Given the description of an element on the screen output the (x, y) to click on. 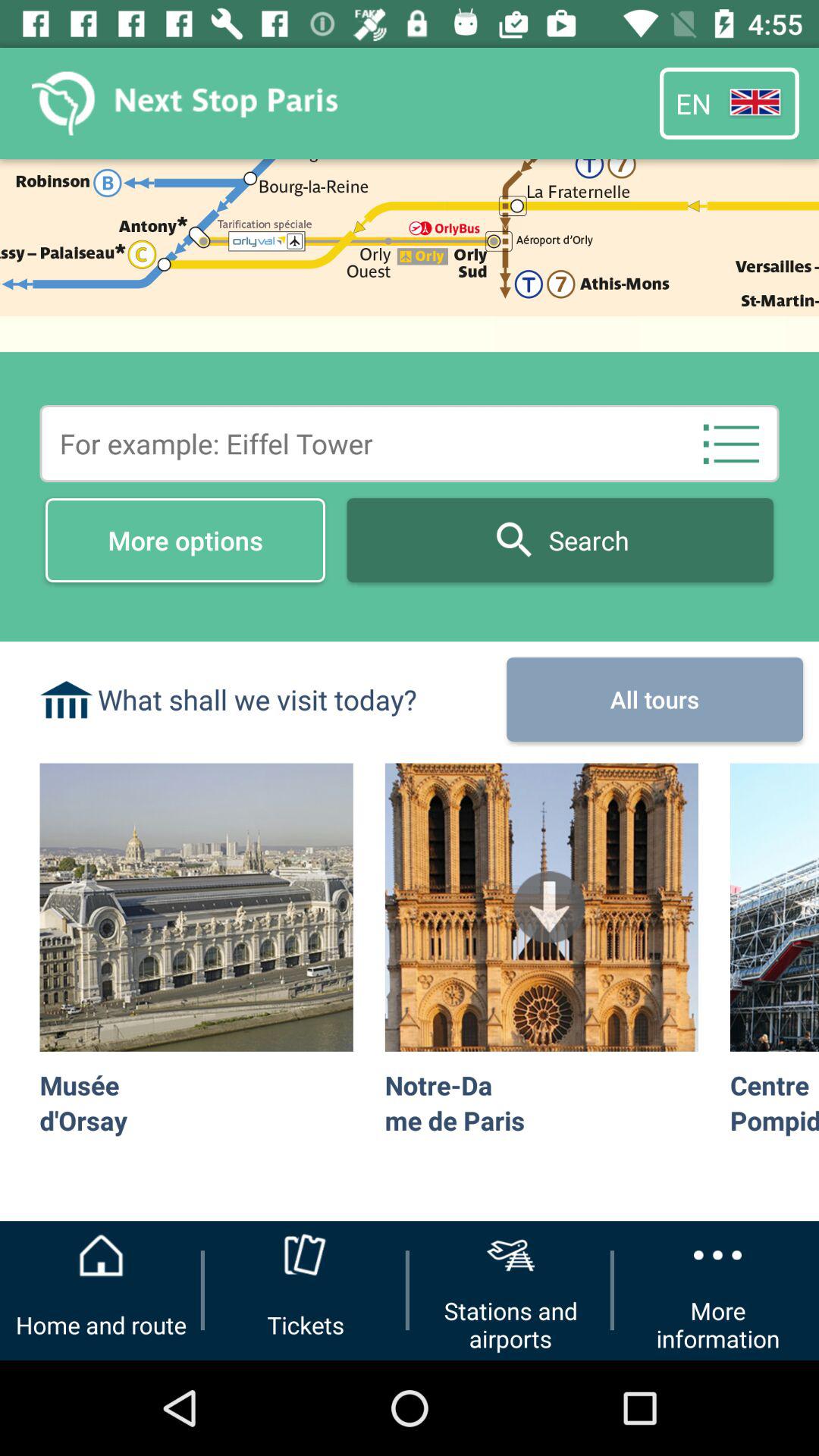
launch the item above the all tours icon (731, 443)
